Given the description of an element on the screen output the (x, y) to click on. 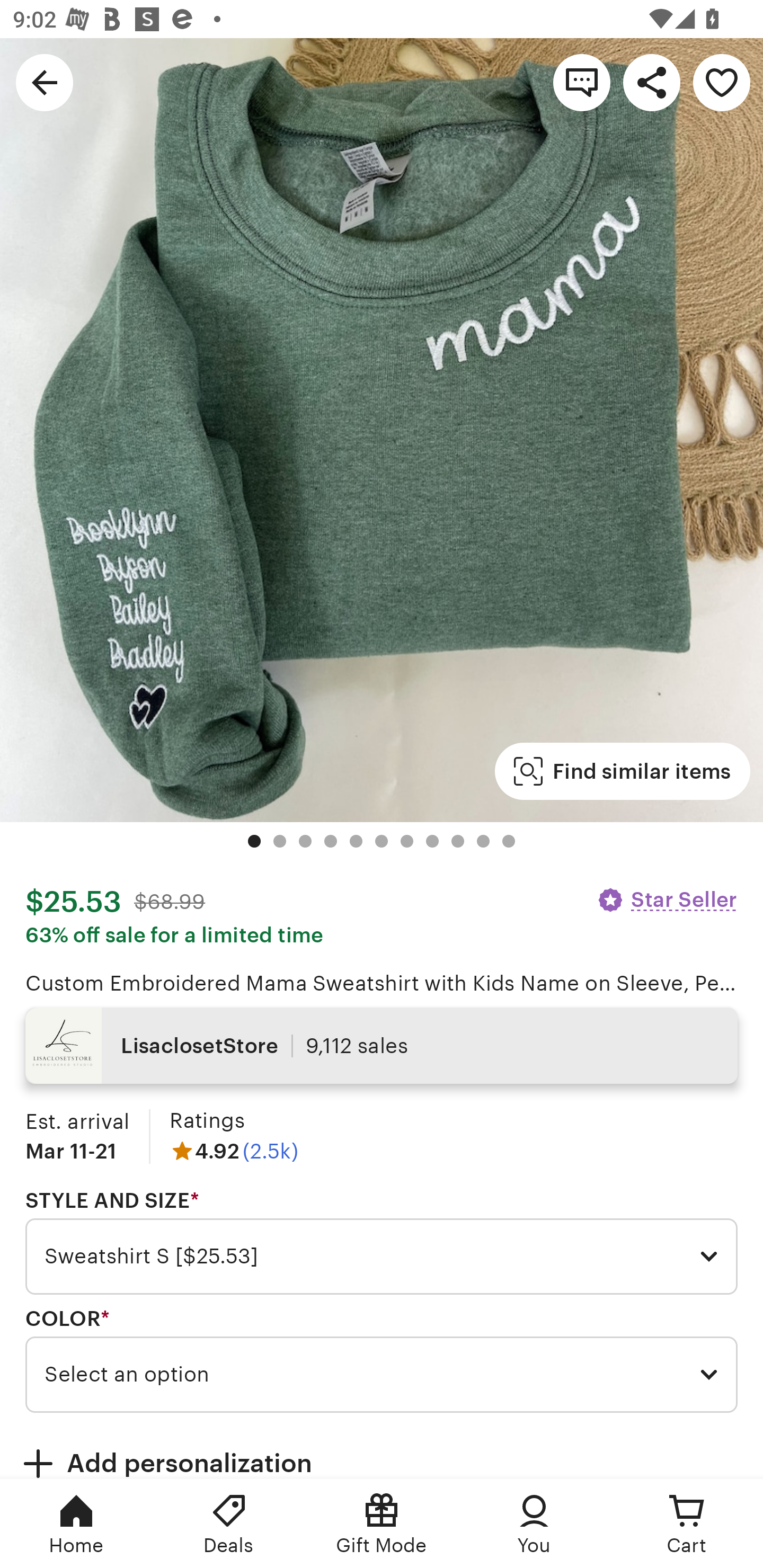
Navigate up (44, 81)
Contact shop (581, 81)
Share (651, 81)
Find similar items (622, 771)
Star Seller (666, 899)
LisaclosetStore 9,112 sales (381, 1045)
Ratings (206, 1120)
4.92 (2.5k) (233, 1150)
STYLE AND SIZE * Required Sweatshirt S [$25.53] (381, 1241)
Sweatshirt S [$25.53] (381, 1256)
COLOR * Required Select an option (381, 1359)
Select an option (381, 1373)
Add personalization Add personalization Required (381, 1451)
Deals (228, 1523)
Gift Mode (381, 1523)
You (533, 1523)
Cart (686, 1523)
